Given the description of an element on the screen output the (x, y) to click on. 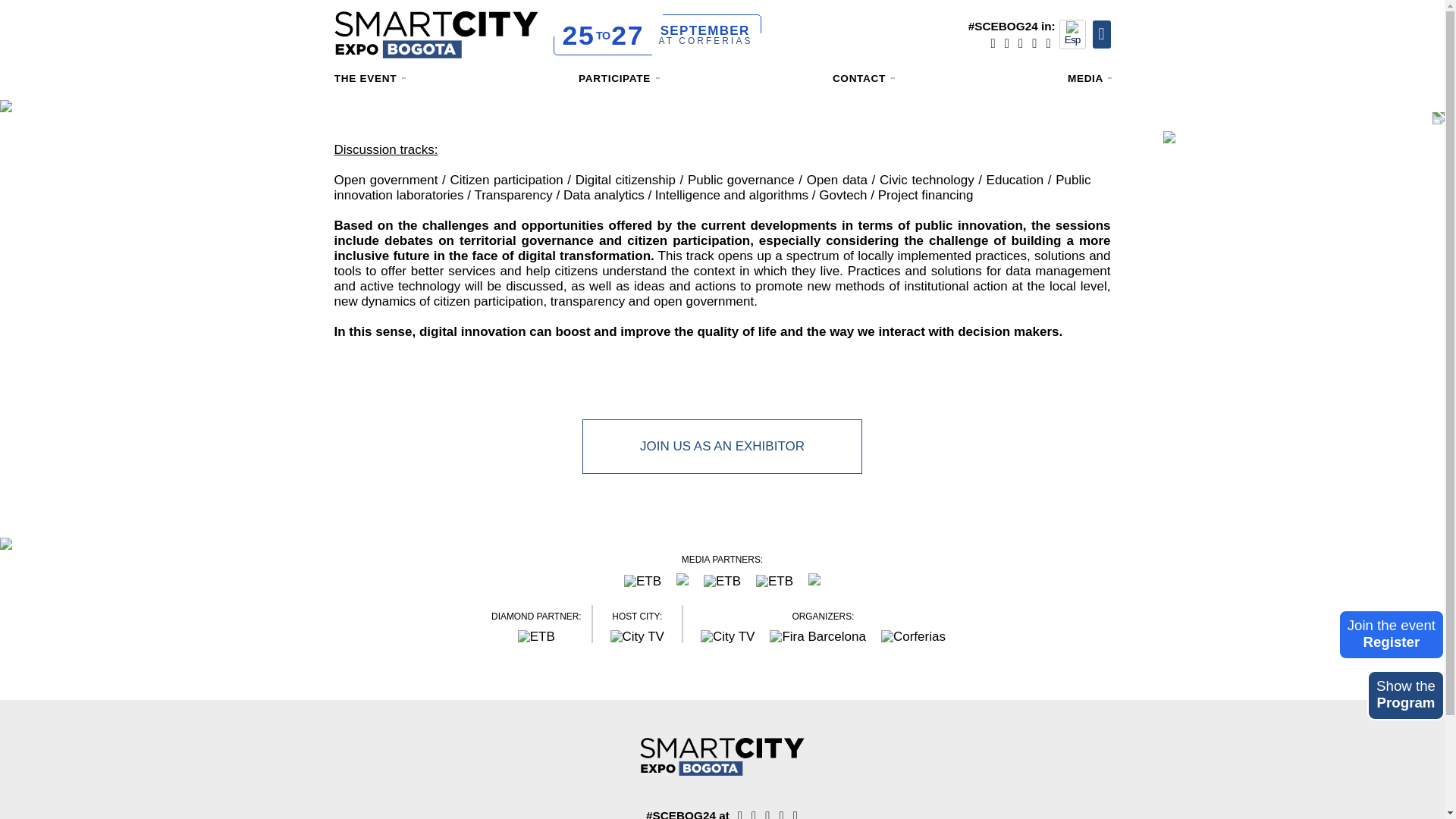
JOIN US AS AN EXHIBITOR (721, 446)
Esp (1072, 34)
